Given the description of an element on the screen output the (x, y) to click on. 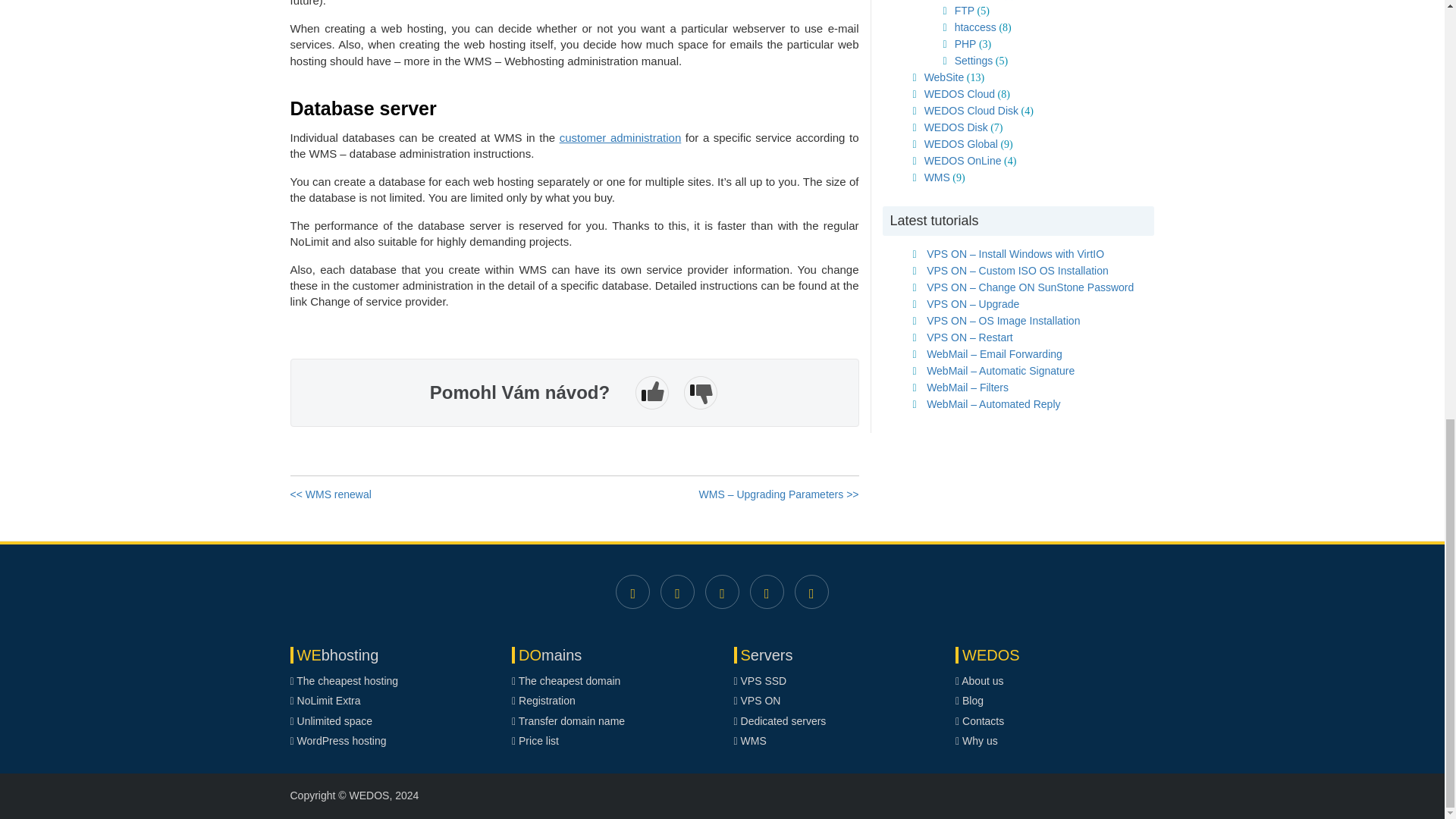
youtube page (766, 591)
The newest tutorials RSS (811, 591)
Database server (574, 100)
twitter page (677, 591)
facebook page (632, 591)
customer administration (620, 137)
subscribe (721, 591)
